Given the description of an element on the screen output the (x, y) to click on. 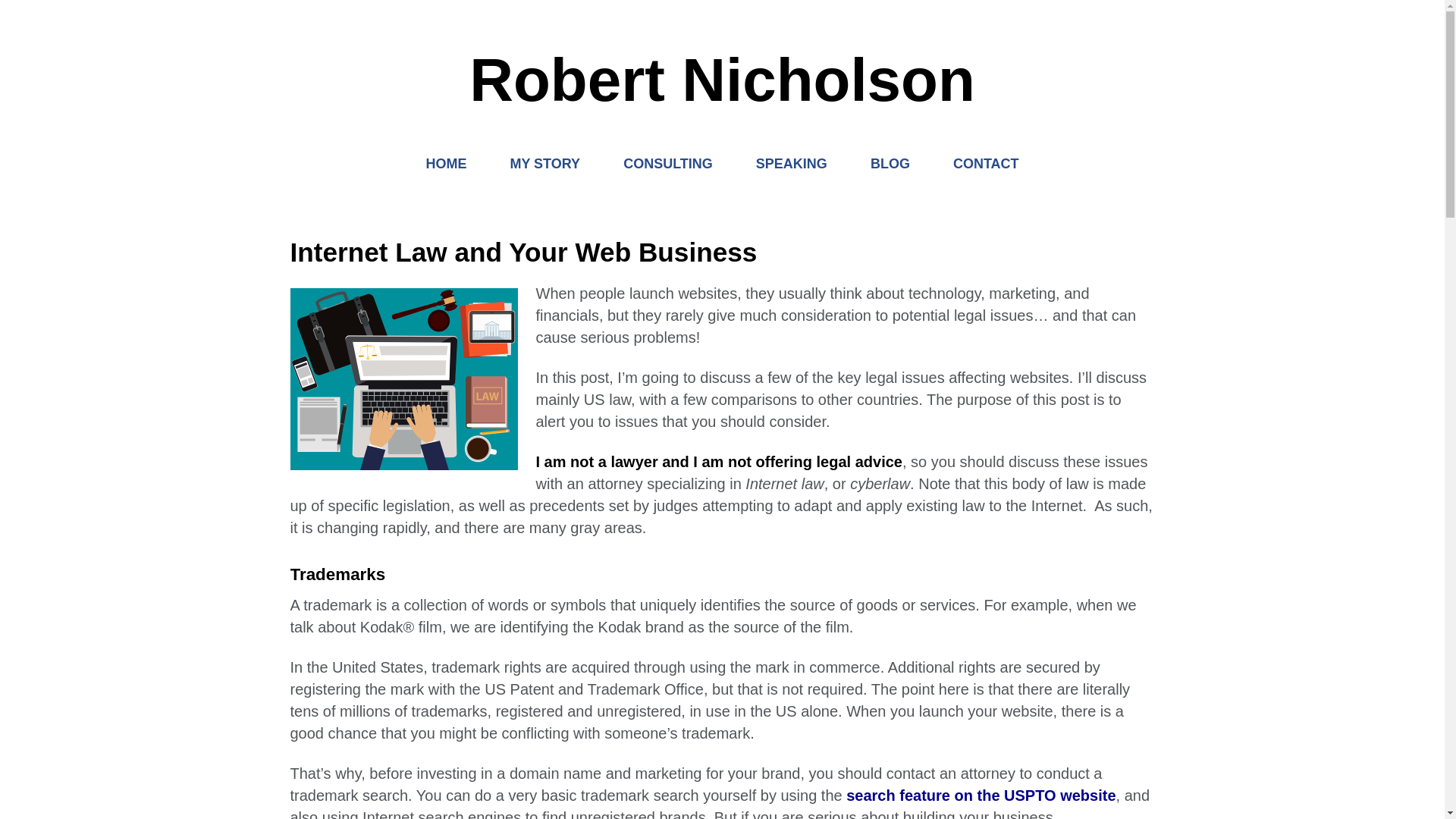
SPEAKING (792, 163)
Learning How to do Business on the Internet (890, 163)
MY STORY (544, 163)
HOME (446, 163)
search feature on the USPTO website (980, 795)
CONSULTING (668, 163)
CONTACT (985, 163)
Robert Nicholson (721, 79)
BLOG (890, 163)
